Given the description of an element on the screen output the (x, y) to click on. 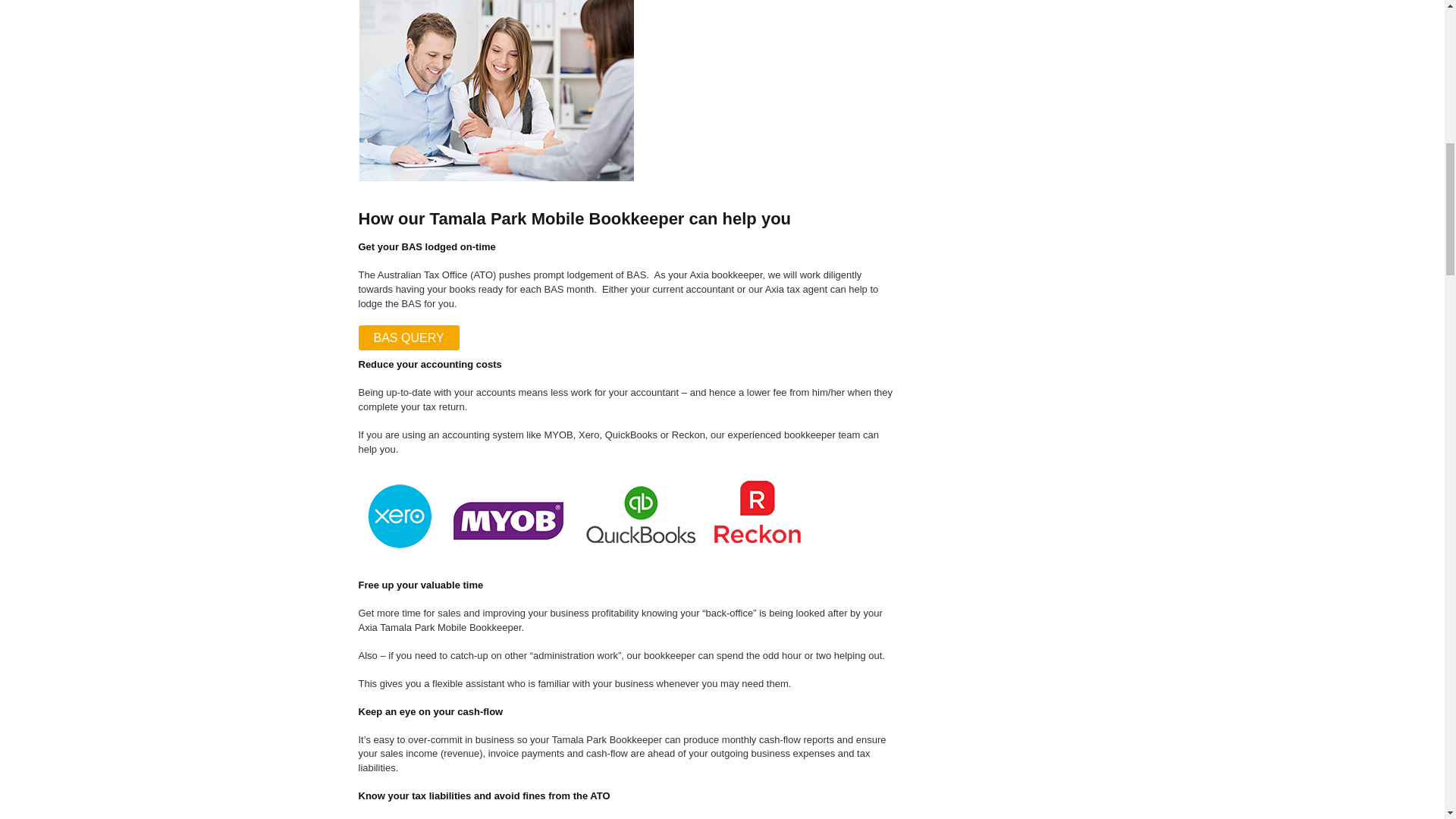
BAS QUERY (408, 338)
